Given the description of an element on the screen output the (x, y) to click on. 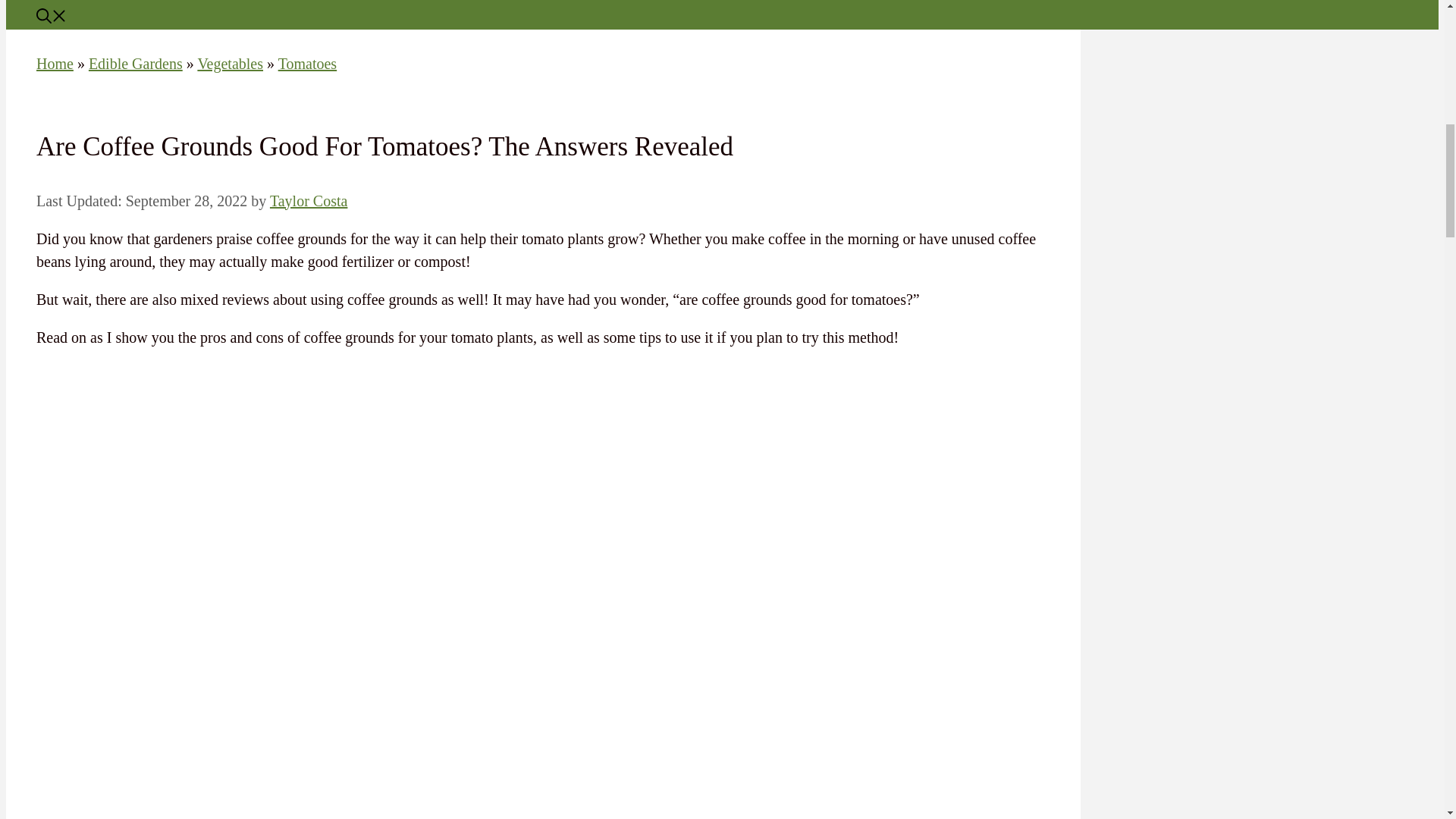
Scroll back to top (1406, 720)
Taylor Costa (308, 200)
Edible Gardens (135, 63)
View all posts by Taylor Costa (308, 200)
Tomatoes (307, 63)
Home (55, 63)
Vegetables (229, 63)
